Given the description of an element on the screen output the (x, y) to click on. 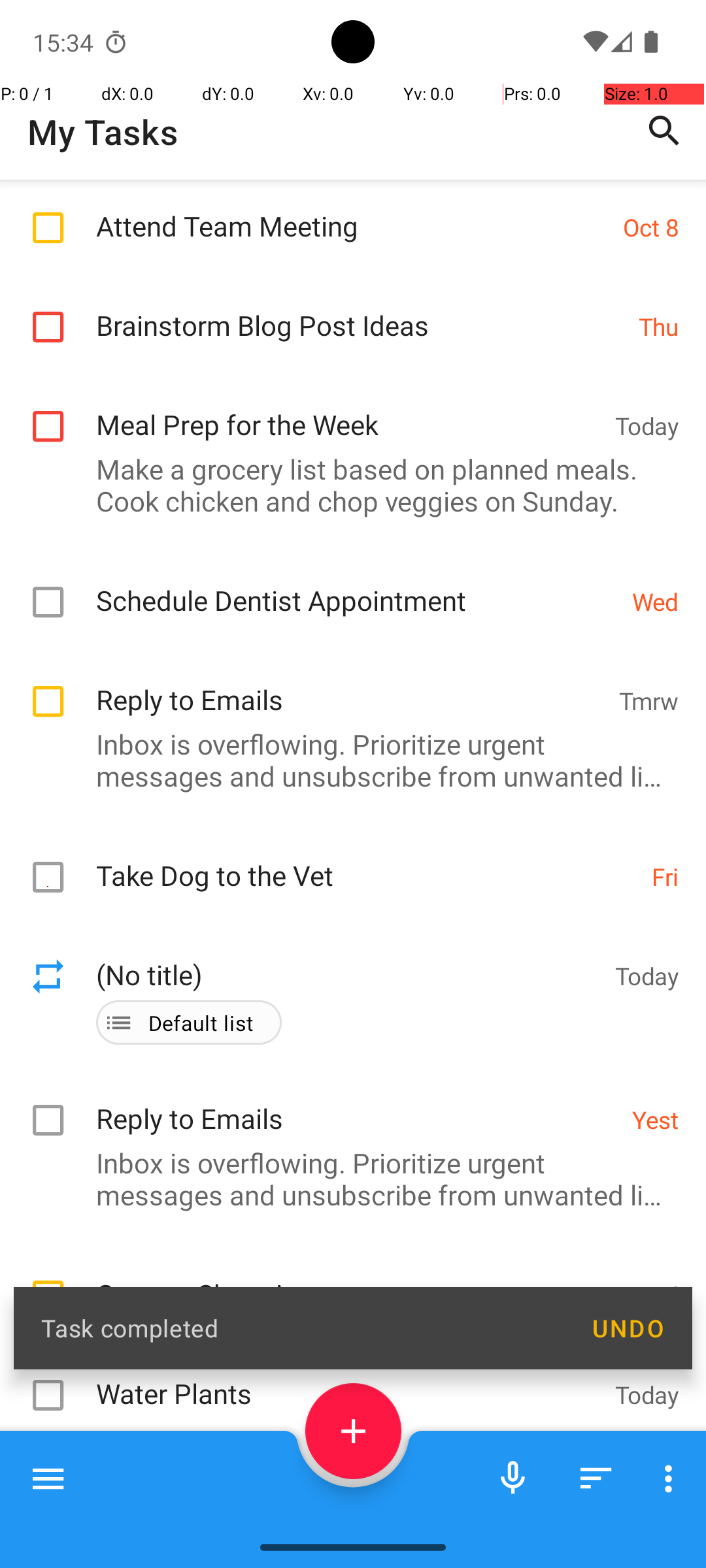
Task completed Element type: android.widget.TextView (302, 1327)
UNDO Element type: android.widget.Button (627, 1328)
(No title) Element type: android.widget.TextView (348, 1034)
